Given the description of an element on the screen output the (x, y) to click on. 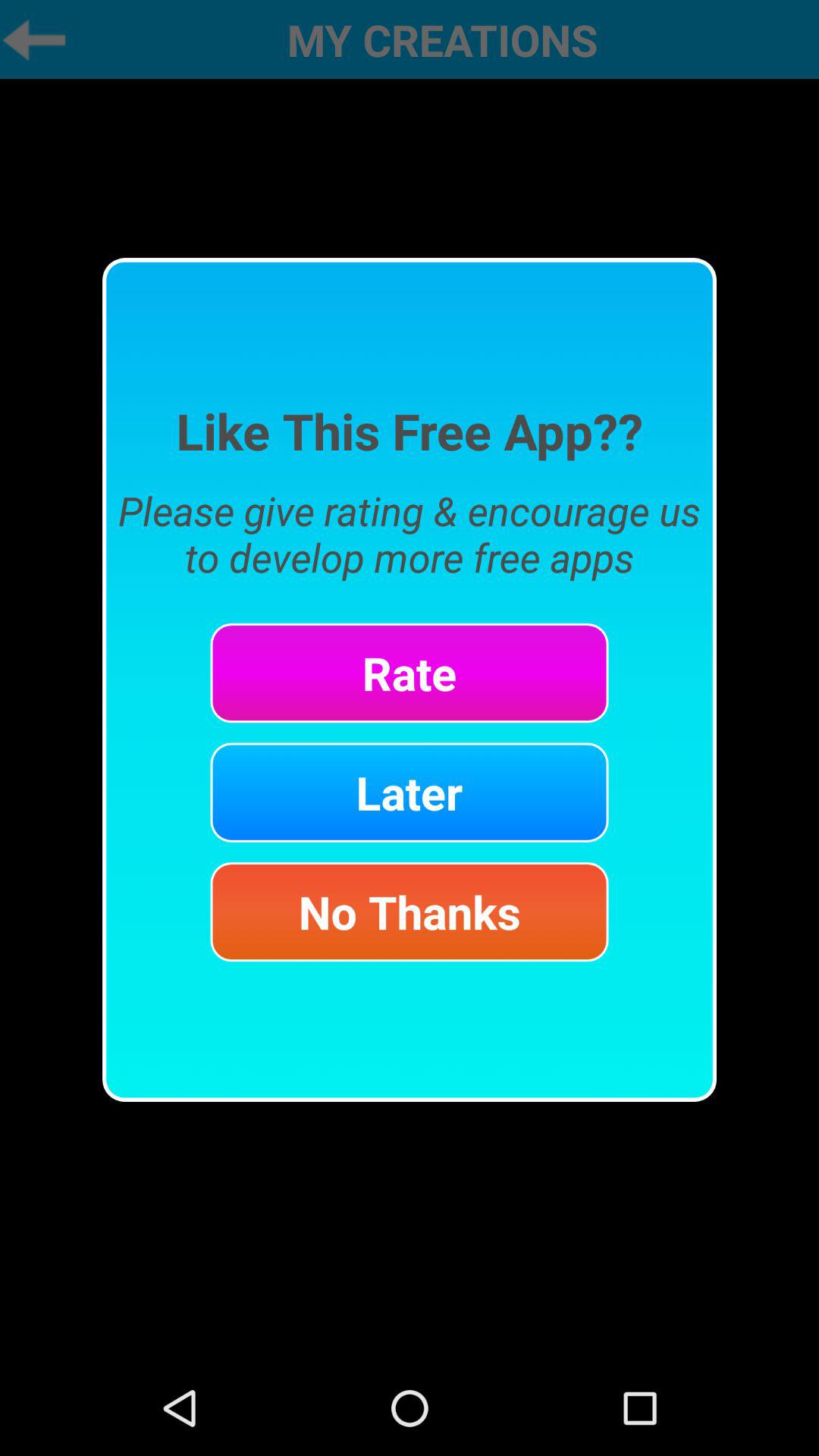
turn off button below the rate button (409, 792)
